Given the description of an element on the screen output the (x, y) to click on. 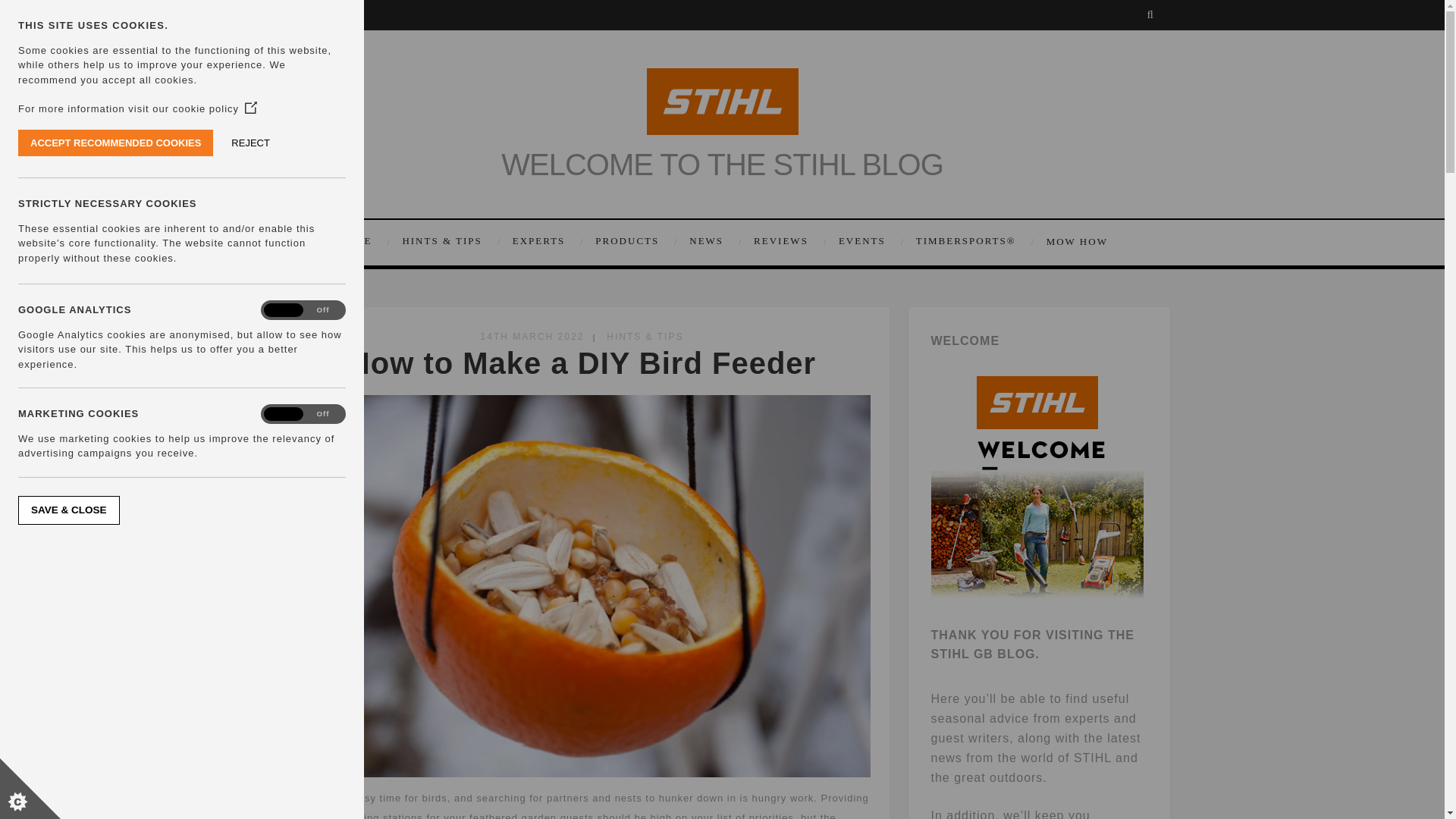
Permanent Link to How to Make a DIY Bird Feeder (581, 363)
REVIEWS (788, 241)
PRODUCTS (634, 241)
How to Make a DIY Bird Feeder (581, 363)
NEWS (713, 241)
Cookie Control Icon (30, 788)
EVENTS (869, 241)
EXPERTS (546, 241)
MOW HOW (1073, 241)
14TH MARCH 2022 (532, 336)
HOME (365, 241)
